Given the description of an element on the screen output the (x, y) to click on. 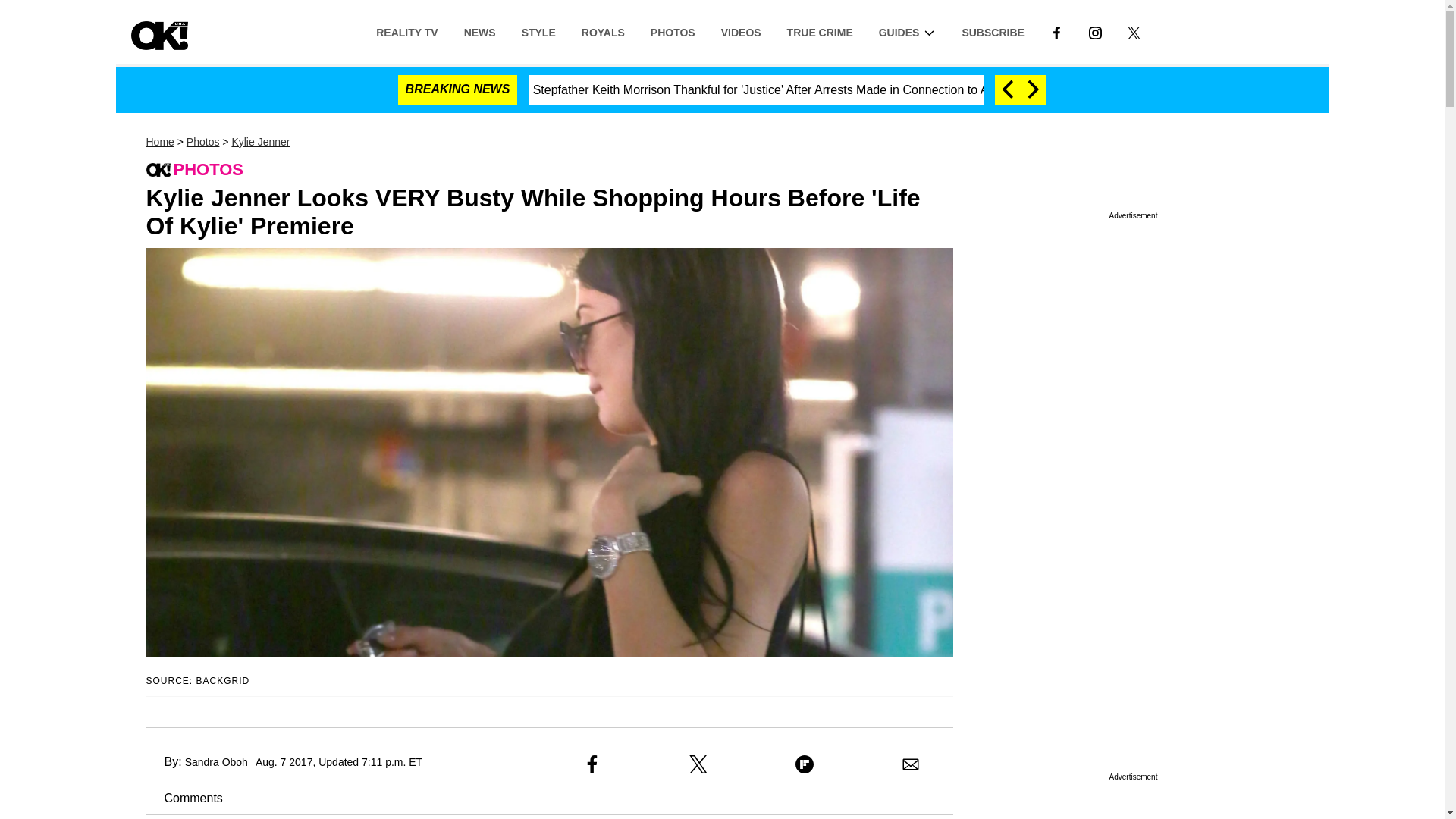
VIDEOS (740, 31)
SUBSCRIBE (992, 31)
Link to Facebook (1055, 31)
LINK TO FACEBOOK (1055, 32)
Share to Facebook (590, 764)
Share to X (697, 764)
PHOTOS (672, 31)
ROYALS (603, 31)
Link to Instagram (1095, 31)
